Given the description of an element on the screen output the (x, y) to click on. 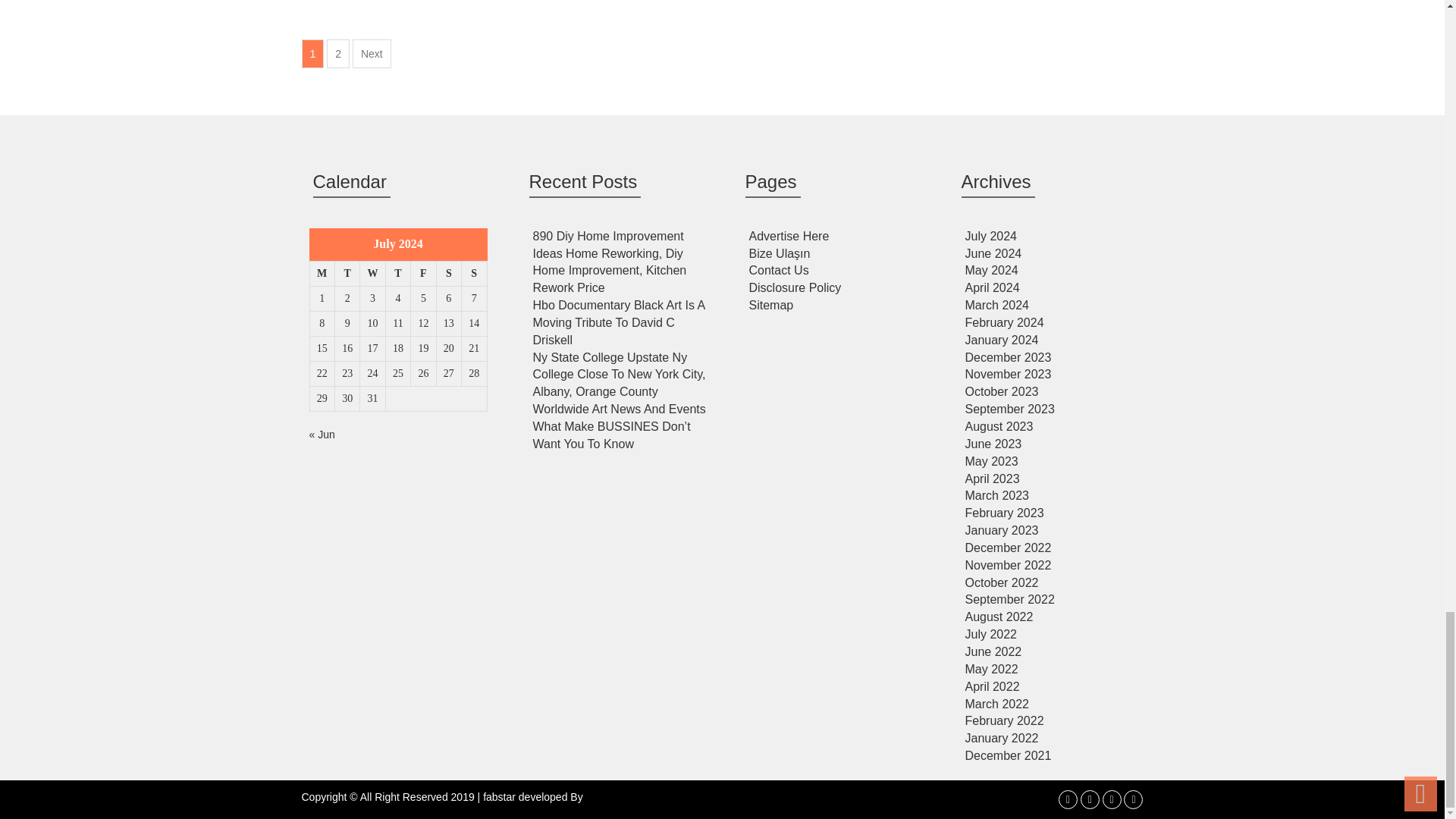
Monday (321, 273)
Thursday (397, 273)
Saturday (448, 273)
Wednesday (372, 273)
Sunday (473, 273)
Friday (422, 273)
Tuesday (346, 273)
